Given the description of an element on the screen output the (x, y) to click on. 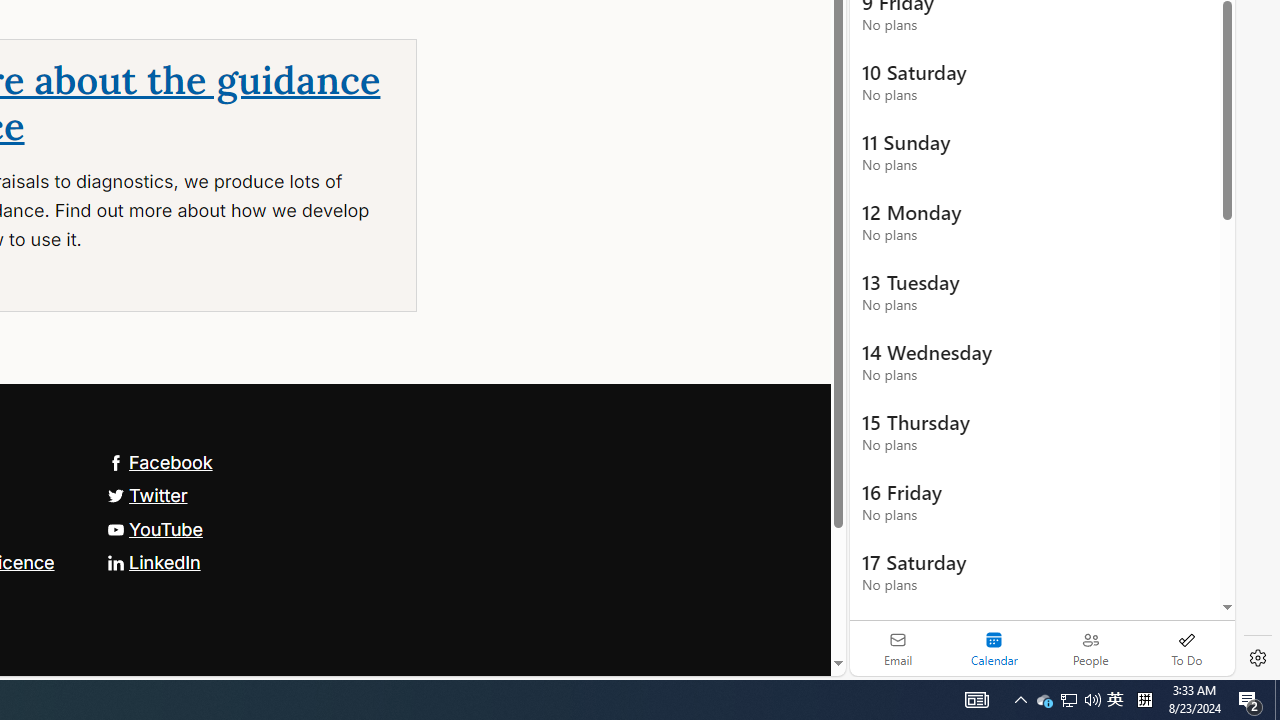
Facebook (159, 461)
